Given the description of an element on the screen output the (x, y) to click on. 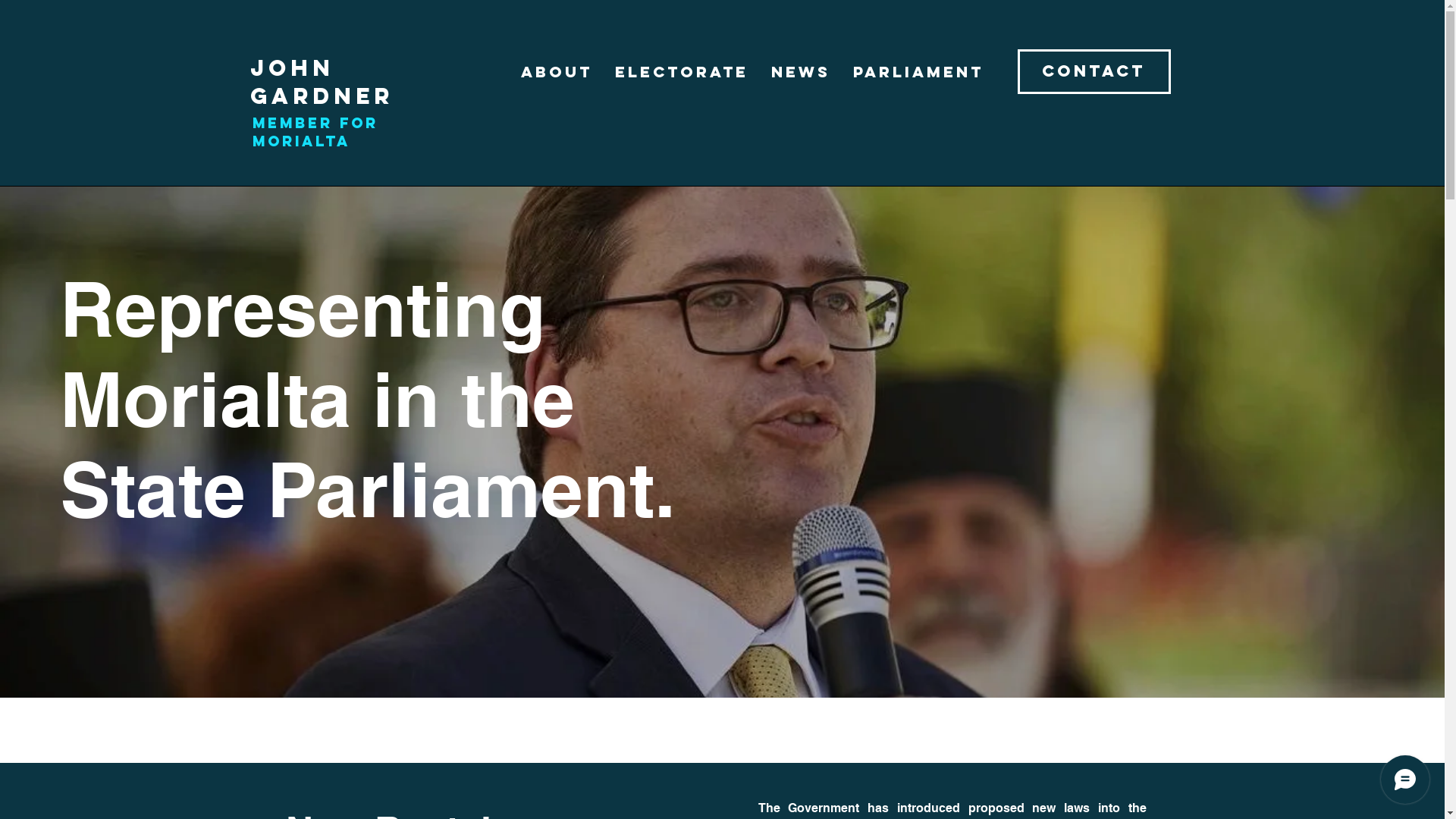
ABOUT Element type: text (556, 71)
CONTACT Element type: text (1093, 71)
PARLIAMENT Element type: text (917, 71)
NEWS Element type: text (800, 71)
ELECTORATE Element type: text (681, 71)
John Gardner Element type: text (321, 81)
